Given the description of an element on the screen output the (x, y) to click on. 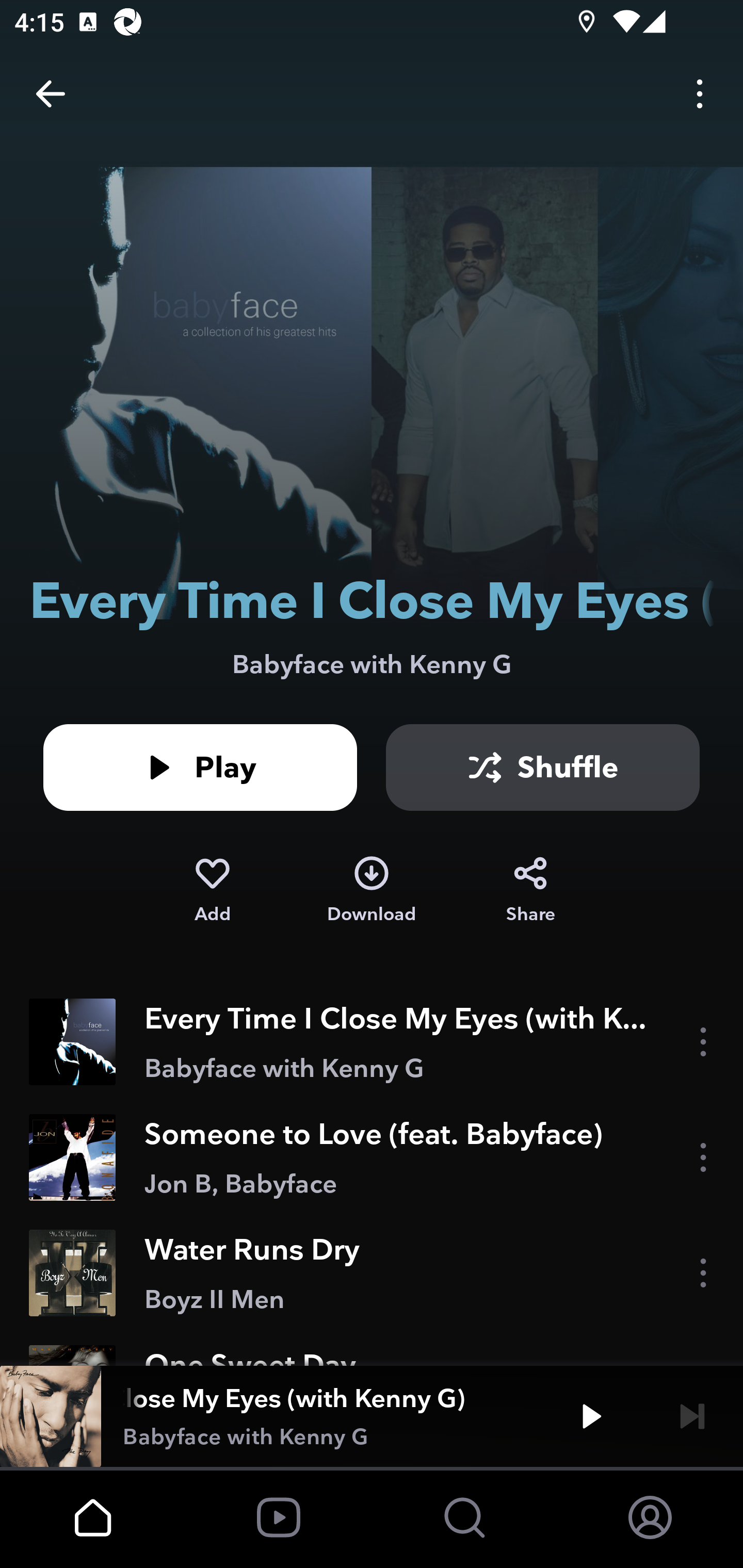
Options (699, 93)
Play (200, 767)
Shuffle (542, 767)
Add (211, 890)
Download (371, 890)
Share (530, 890)
Someone to Love (feat. Babyface) Jon B, Babyface (371, 1157)
Water Runs Dry Boyz II Men (371, 1273)
Play (590, 1416)
